Given the description of an element on the screen output the (x, y) to click on. 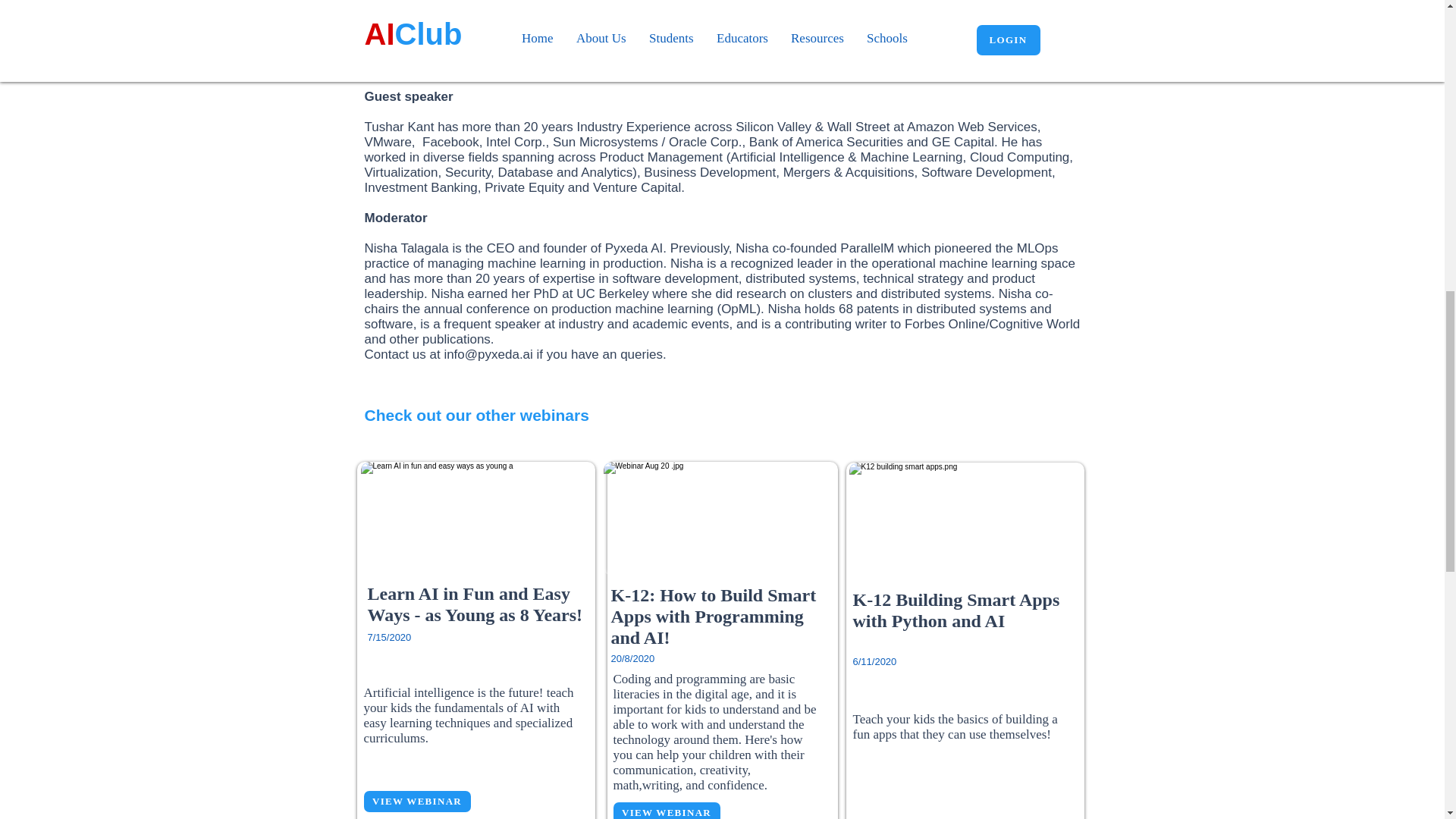
K-12: How to Build Smart Apps with Programming and AI! (713, 615)
K-12 Building Smart Apps with Python and AI (955, 609)
Learn AI in Fun and Easy Ways - as Young as 8 Years! (474, 603)
VIEW WEBINAR (417, 801)
VIEW WEBINAR (665, 810)
